Given the description of an element on the screen output the (x, y) to click on. 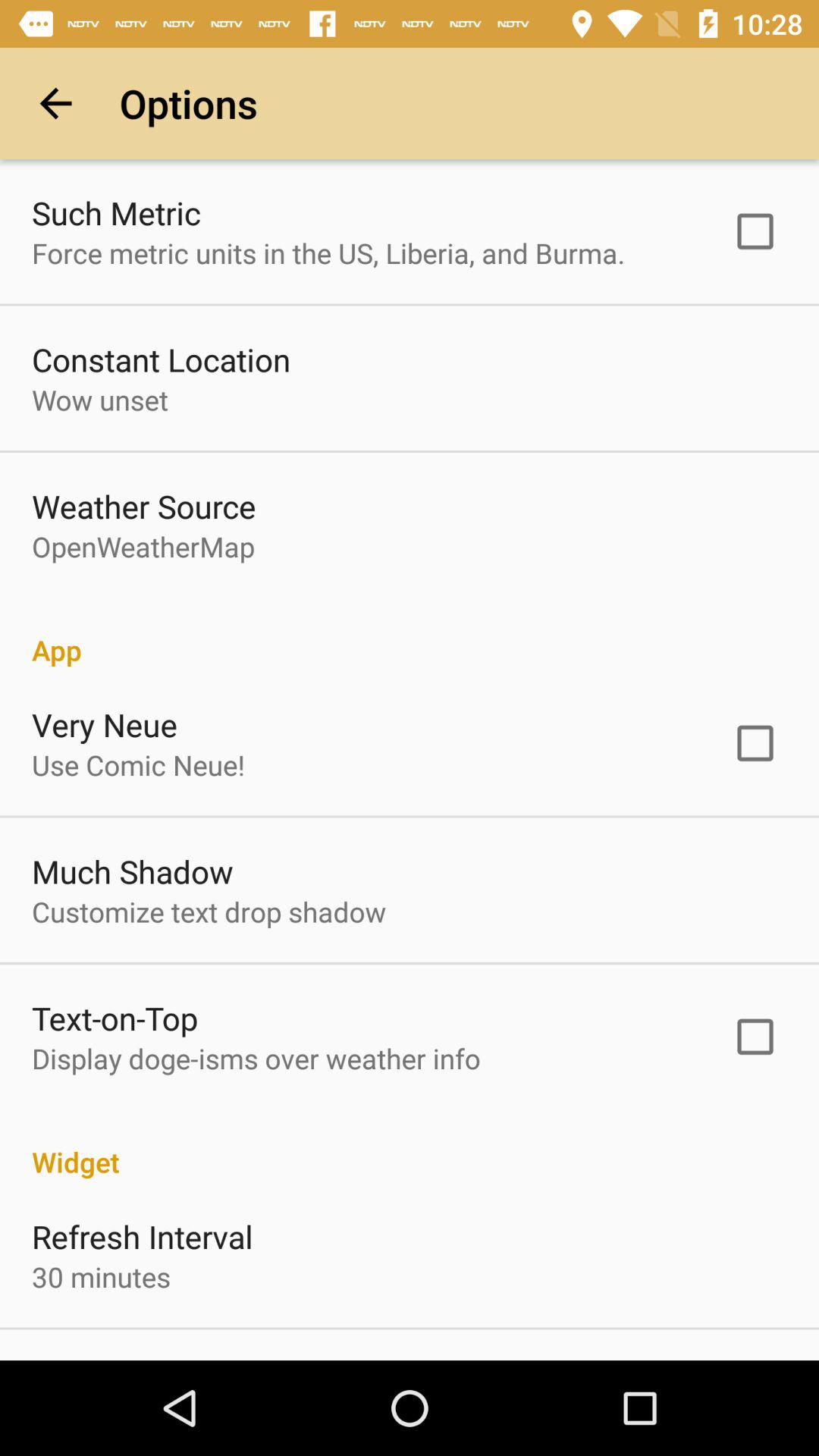
choose icon below the widget app (142, 1236)
